Given the description of an element on the screen output the (x, y) to click on. 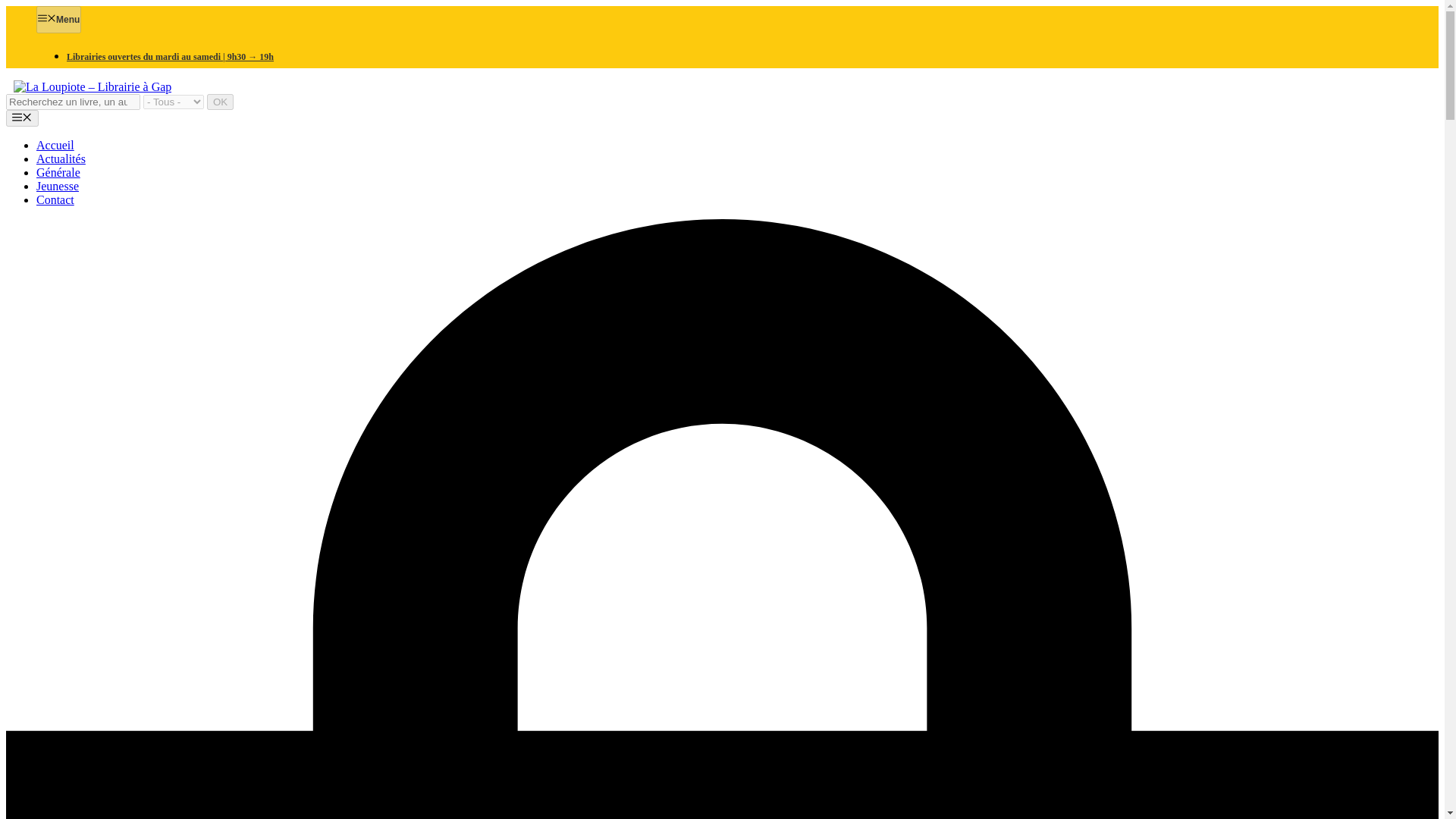
OK (219, 101)
Menu (22, 117)
Jeunesse (57, 185)
Menu (58, 19)
Contact (55, 199)
OK (219, 101)
Accueil (55, 144)
Chercher (72, 101)
